Given the description of an element on the screen output the (x, y) to click on. 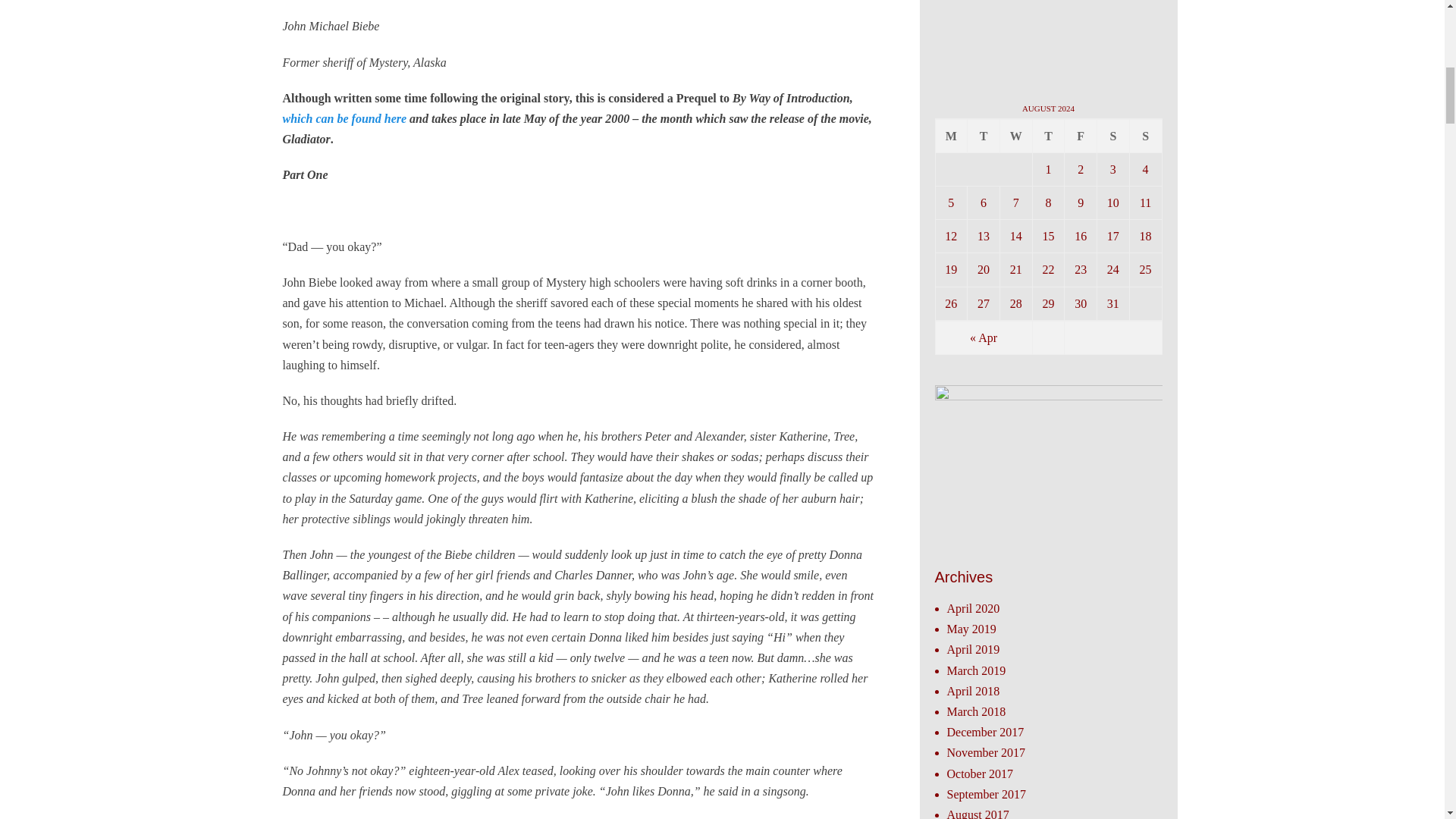
Tuesday (984, 135)
Thursday (1048, 135)
Wednesday (1016, 135)
Sunday (1145, 135)
Saturday (1113, 135)
Friday (1080, 135)
Monday (952, 135)
